Given the description of an element on the screen output the (x, y) to click on. 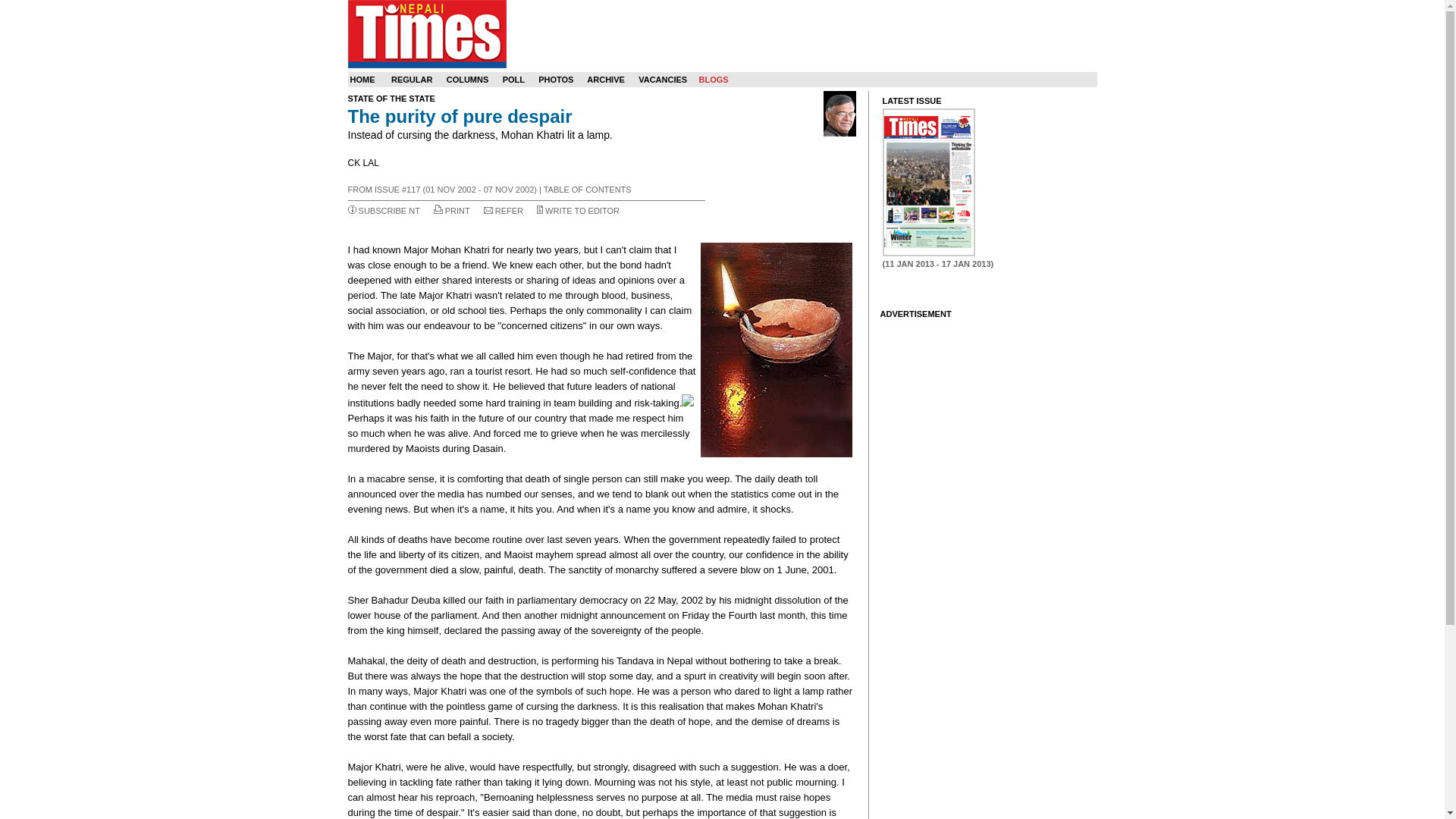
COLUMNS (467, 79)
BLOGS (713, 79)
POLL (513, 79)
ARCHIVE (605, 79)
WRITE TO EDITOR (582, 210)
HOME (362, 79)
PHOTOS (555, 79)
TABLE OF CONTENTS (587, 189)
PRINT (458, 210)
VACANCIES (663, 79)
